Given the description of an element on the screen output the (x, y) to click on. 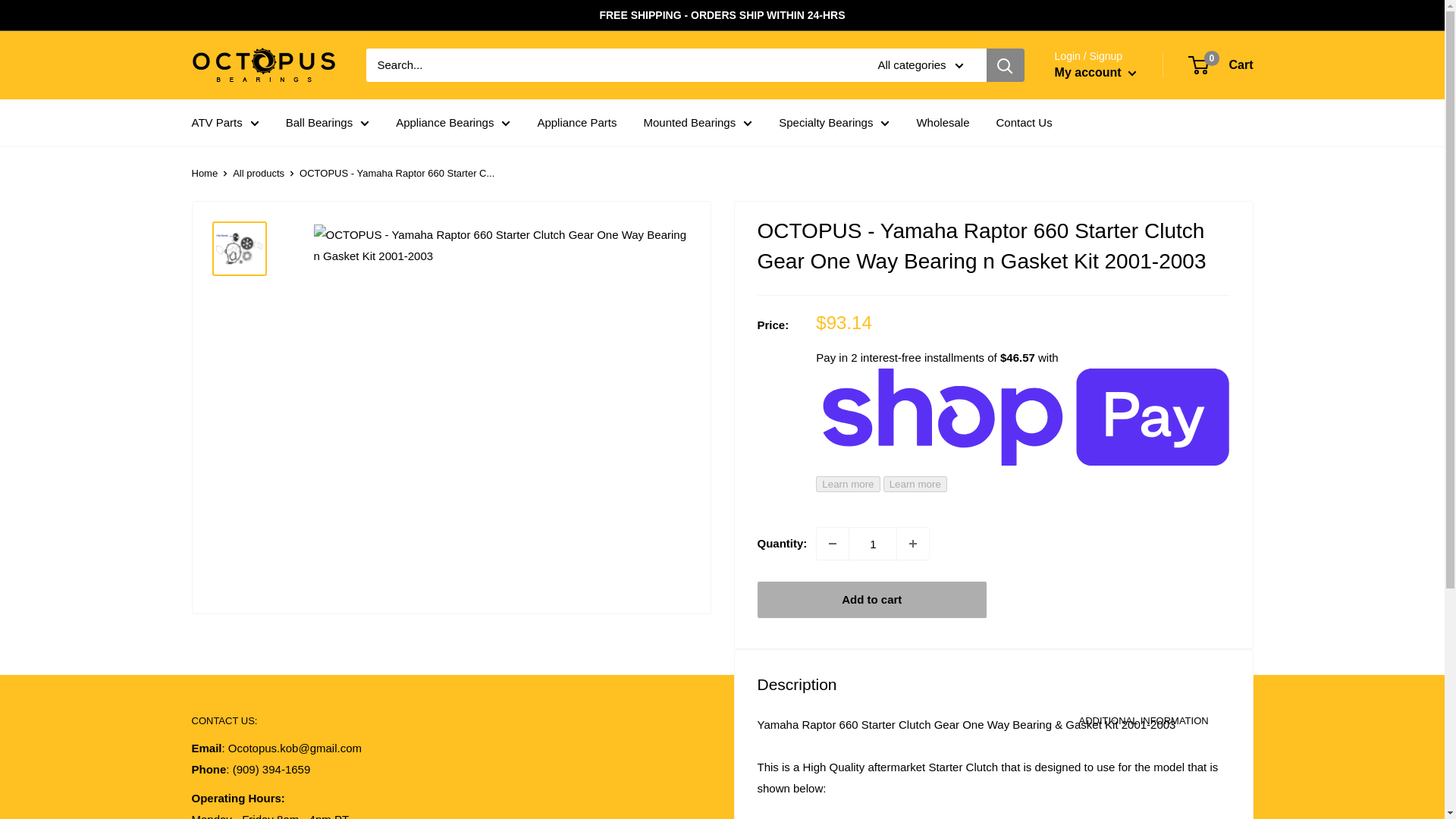
Increase quantity by 1 (912, 543)
1 (872, 543)
Decrease quantity by 1 (832, 543)
